Given the description of an element on the screen output the (x, y) to click on. 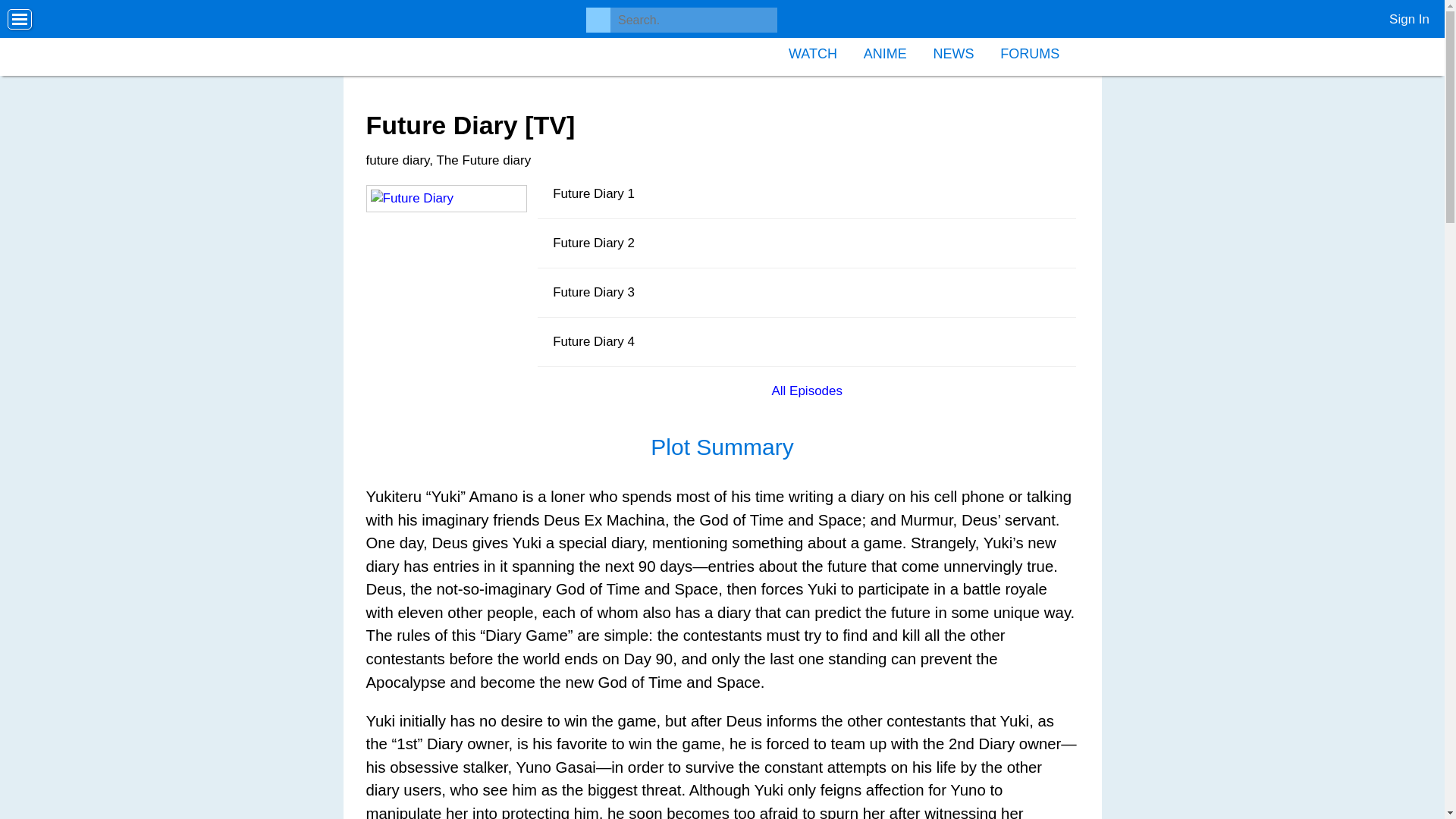
Future Diary 3 (806, 292)
Future Diary 1 (806, 194)
All Episodes (806, 390)
FORUMS (1029, 52)
Home (427, 38)
Future Diary 4 (806, 341)
NEWS (953, 52)
ANIME (884, 52)
Future Diary 2 (806, 243)
Options Menu (19, 19)
Search (28, 12)
WATCH (812, 52)
Sign In (1402, 15)
